Given the description of an element on the screen output the (x, y) to click on. 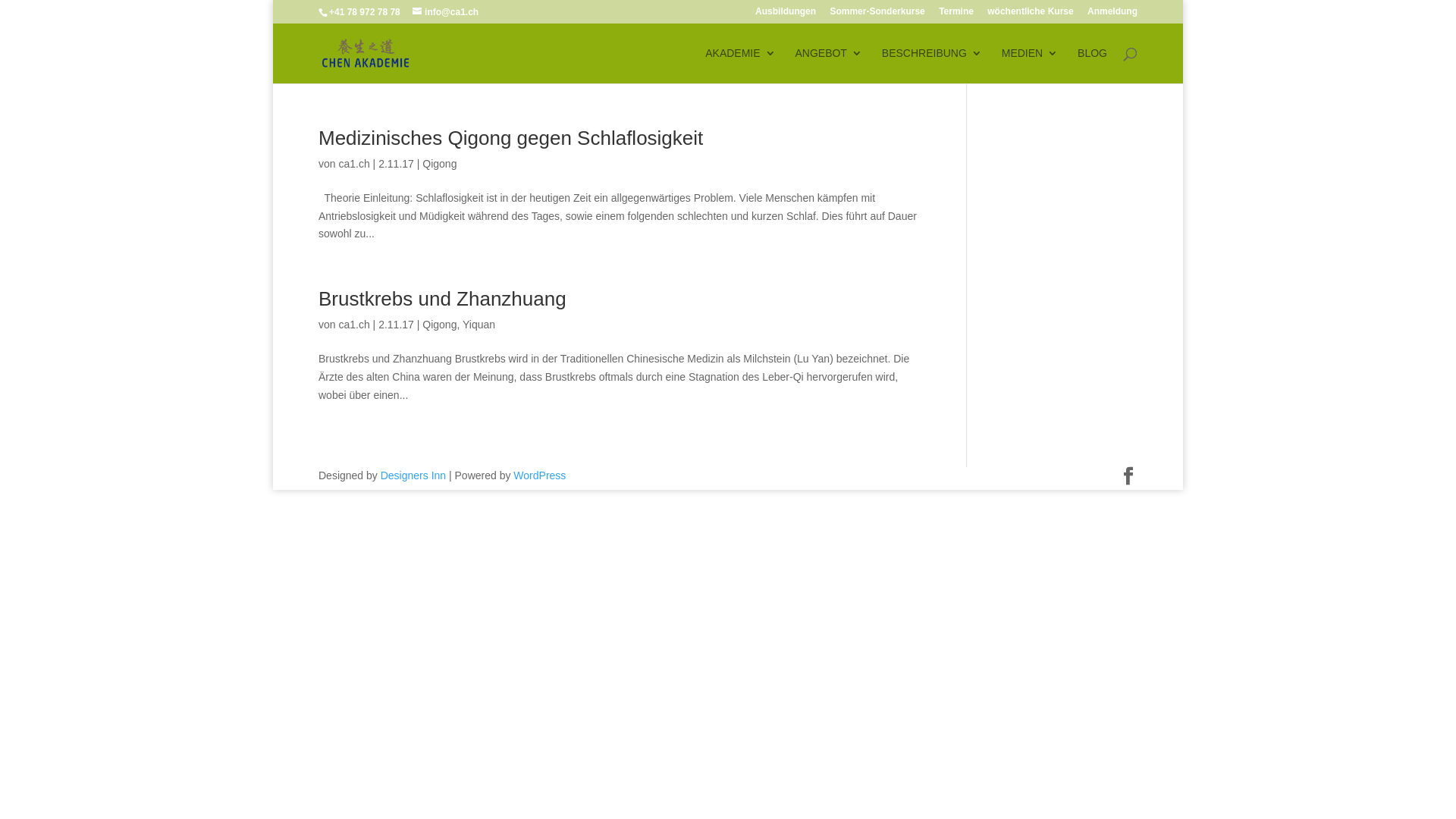
MEDIEN Element type: text (1029, 65)
BESCHREIBUNG Element type: text (931, 65)
+41 78 972 78 78 Element type: text (364, 11)
Yiquan Element type: text (478, 324)
Ausbildungen Element type: text (785, 14)
BLOG Element type: text (1092, 65)
Termine Element type: text (955, 14)
Anmeldung Element type: text (1112, 14)
ca1.ch Element type: text (353, 324)
Brustkrebs und Zhanzhuang Element type: text (442, 298)
WordPress Element type: text (539, 475)
Qigong Element type: text (439, 163)
ANGEBOT Element type: text (827, 65)
Qigong Element type: text (439, 324)
info@ca1.ch Element type: text (445, 11)
Designers Inn Element type: text (412, 475)
AKADEMIE Element type: text (740, 65)
Sommer-Sonderkurse Element type: text (876, 14)
ca1.ch Element type: text (353, 163)
Medizinisches Qigong gegen Schlaflosigkeit Element type: text (510, 137)
